Given the description of an element on the screen output the (x, y) to click on. 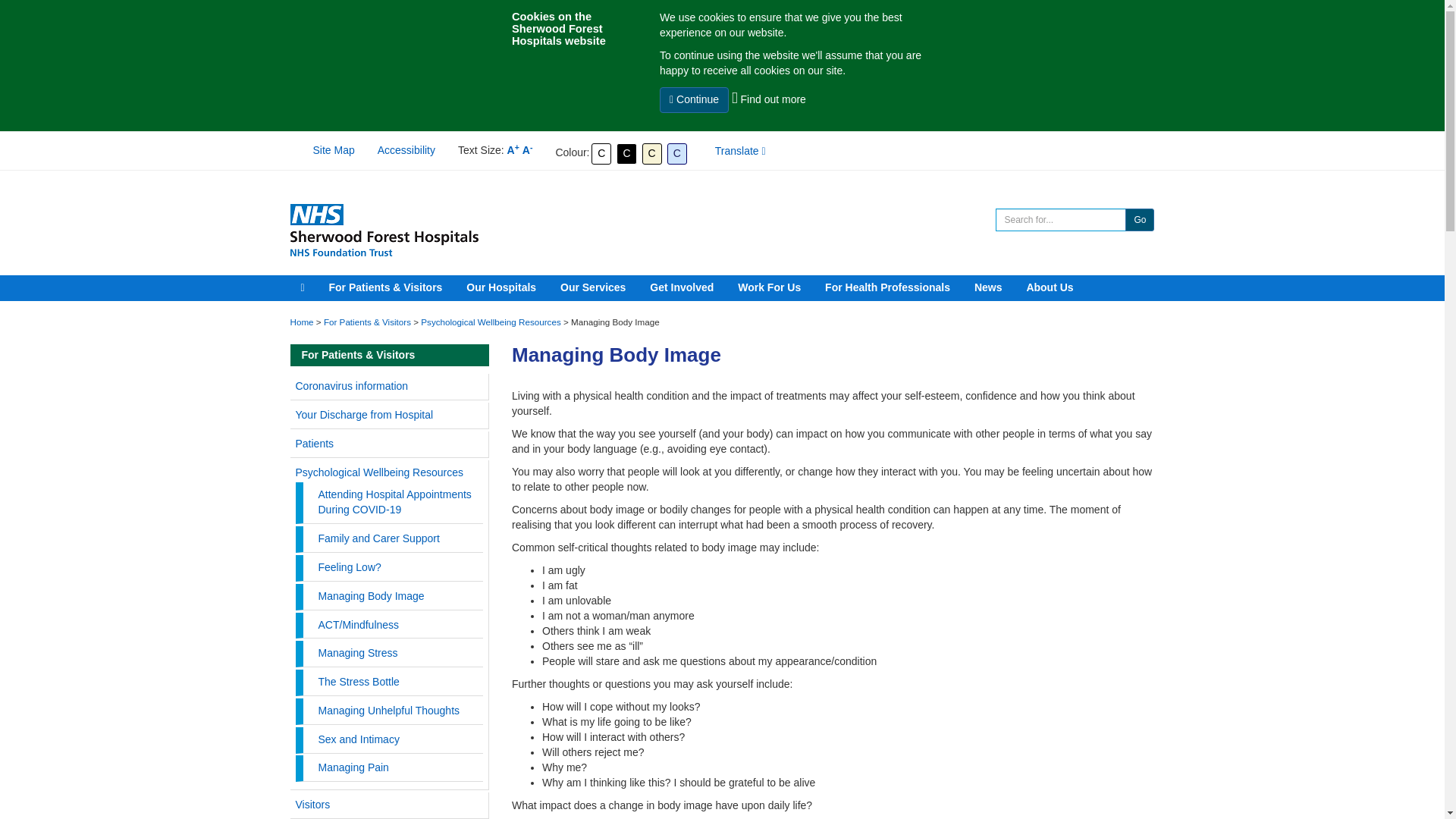
Our Hospitals (500, 287)
Coronavirus information (352, 386)
Make text size larger (512, 150)
Psychological Wellbeing Resources (379, 472)
Your Discharge from Hospital (364, 414)
Our Services (593, 287)
News (988, 287)
Site Map (333, 150)
Psychological Wellbeing Resources (490, 321)
Go (1139, 219)
